Given the description of an element on the screen output the (x, y) to click on. 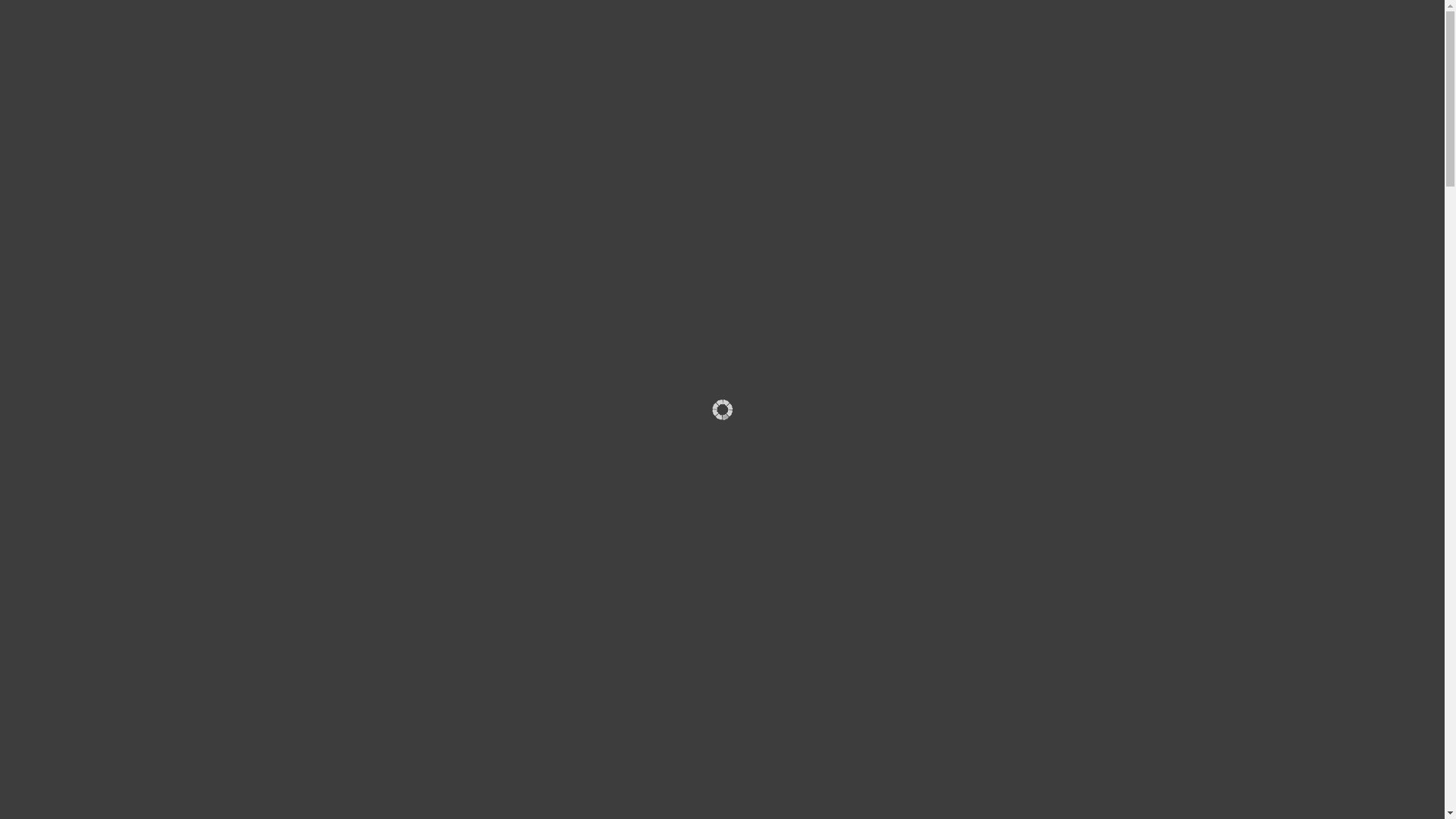
Clients Element type: text (1037, 32)
About Us Element type: text (898, 32)
Contact Us Element type: text (1110, 32)
Our Work Element type: text (970, 32)
